Given the description of an element on the screen output the (x, y) to click on. 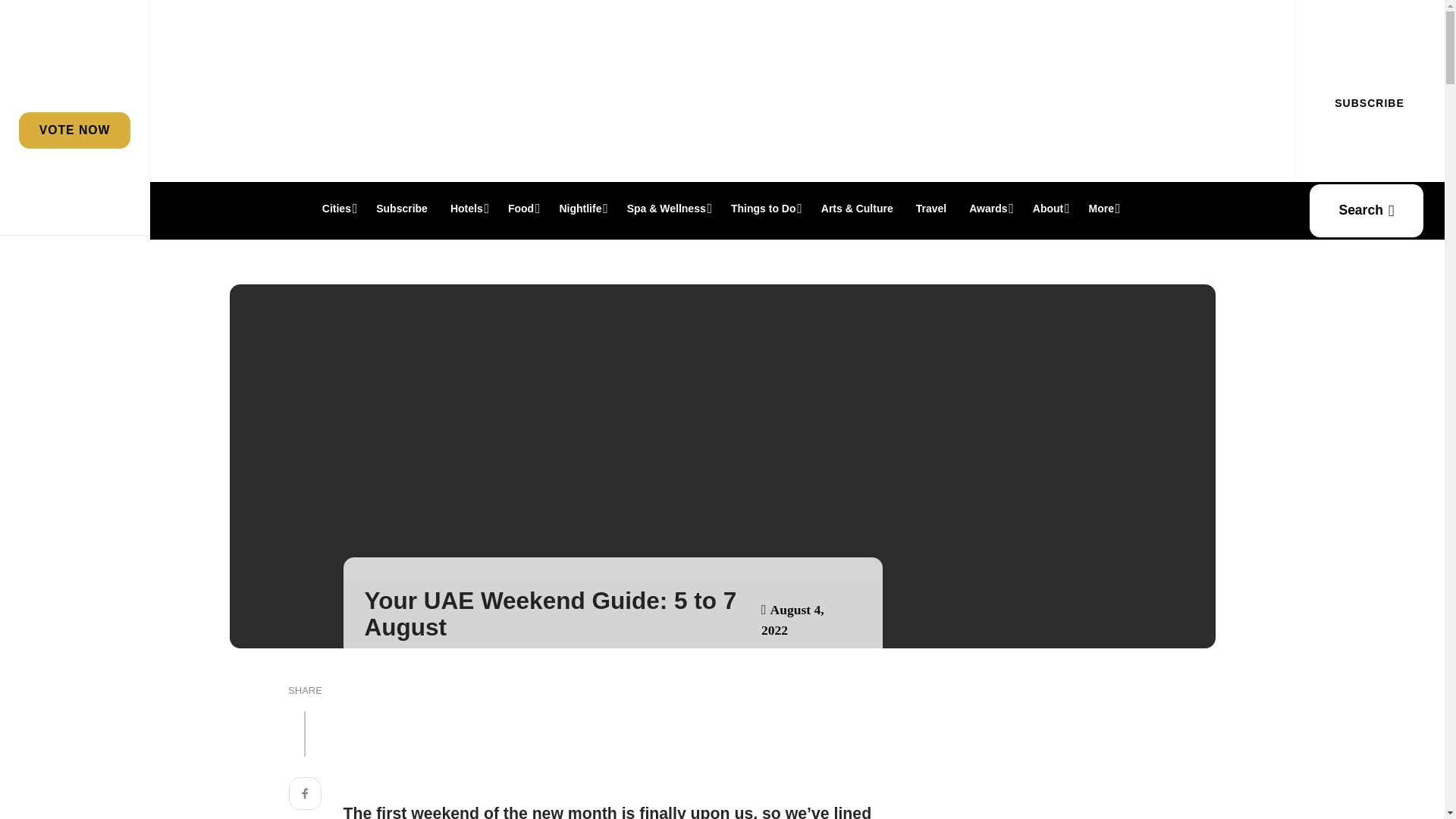
August 4, 2022 at 6:39 am (792, 619)
Share on Facebook (304, 795)
Nightlife (580, 208)
Hotels (467, 208)
Food (521, 208)
Cities (338, 208)
SUBSCRIBE (1369, 103)
VOTE NOW (74, 130)
Subscribe (402, 208)
